Given the description of an element on the screen output the (x, y) to click on. 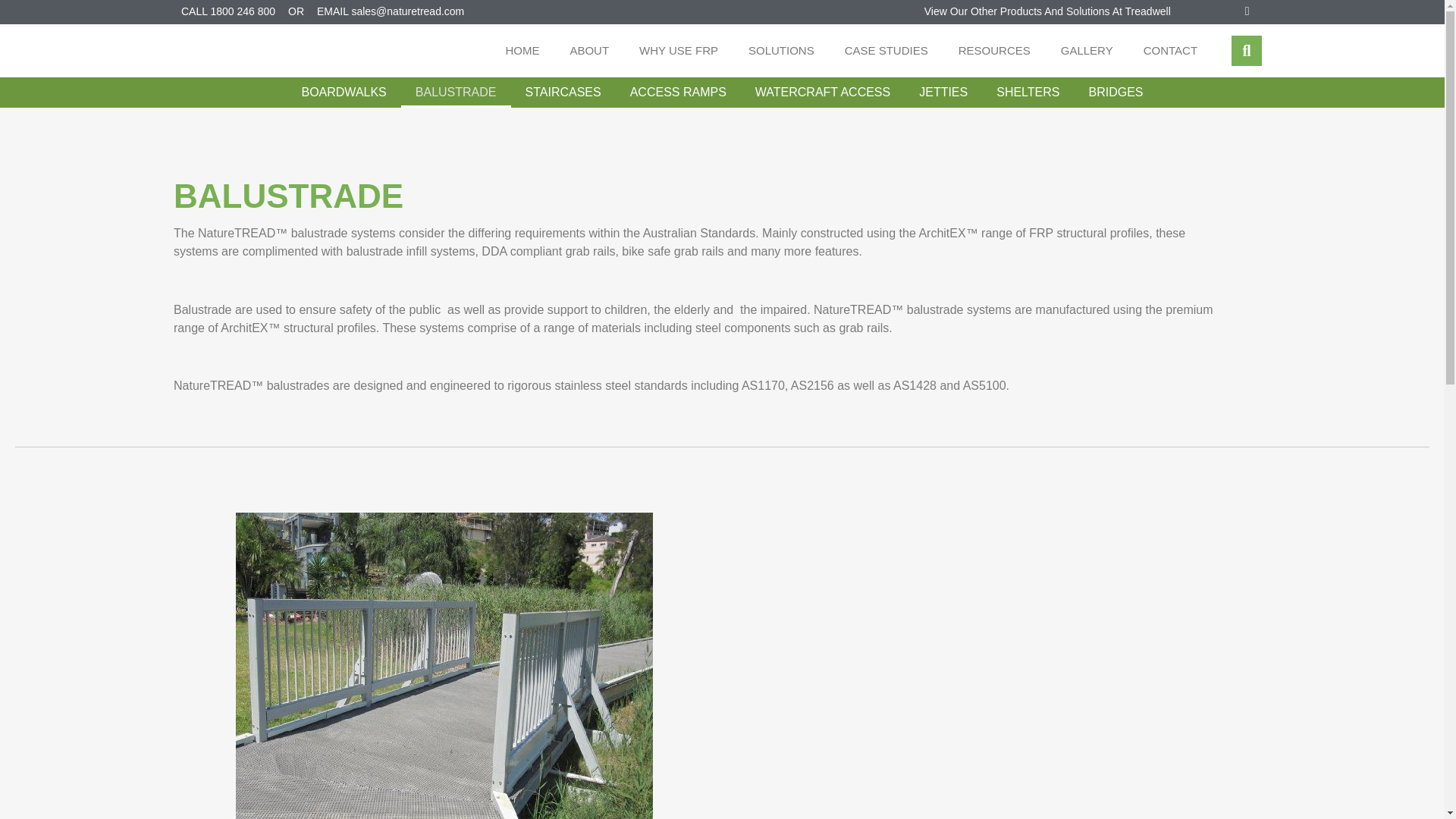
CASE STUDIES (886, 50)
CALL 1800 246 800 (226, 10)
BOARDWALKS (343, 91)
CONTACT (1170, 50)
ABOUT (589, 50)
GALLERY (1086, 50)
SOLUTIONS (781, 50)
HOME (521, 50)
View Our Other Products And Solutions At Treadwell (1047, 10)
WHY USE FRP (678, 50)
RESOURCES (994, 50)
